Given the description of an element on the screen output the (x, y) to click on. 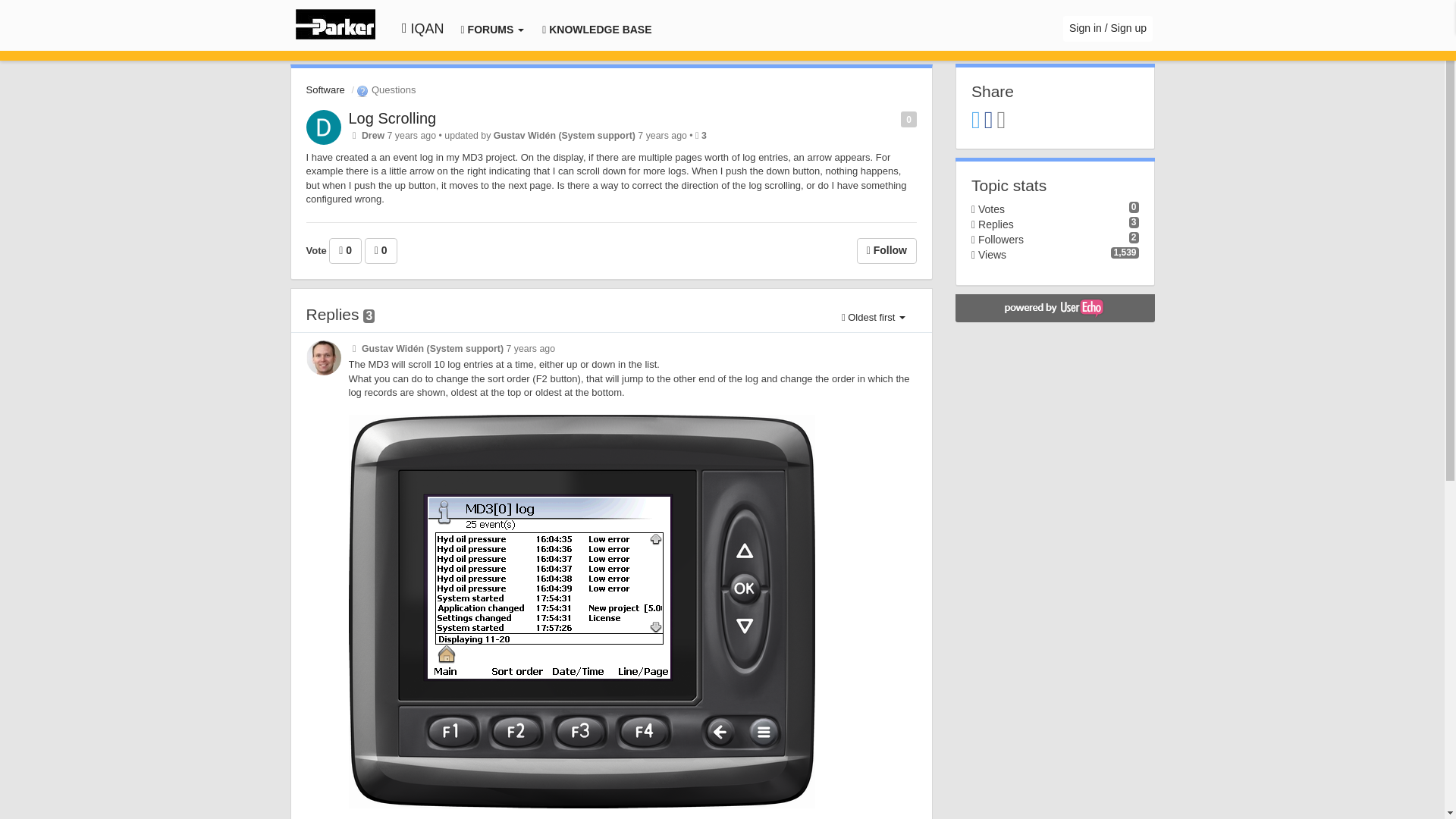
Software (325, 89)
FORUMS (492, 30)
Log Scrolling (392, 117)
0 (345, 250)
0 (381, 250)
Oldest first (873, 317)
KNOWLEDGE BASE (596, 30)
Drew (372, 135)
7 years ago (531, 348)
IQAN (422, 28)
Questions (384, 89)
Follow (887, 250)
